Given the description of an element on the screen output the (x, y) to click on. 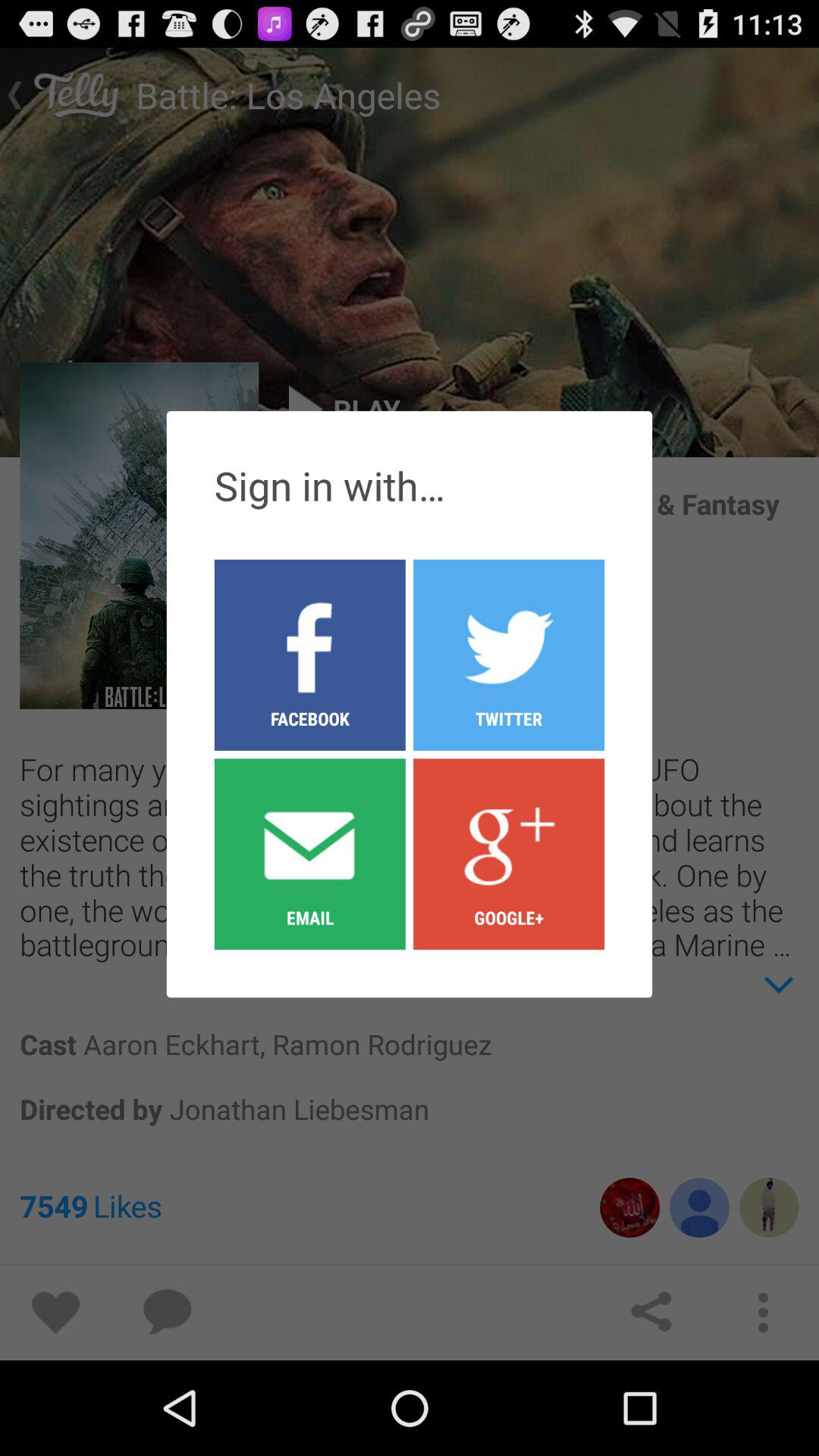
select item to the right of the facebook icon (508, 853)
